Given the description of an element on the screen output the (x, y) to click on. 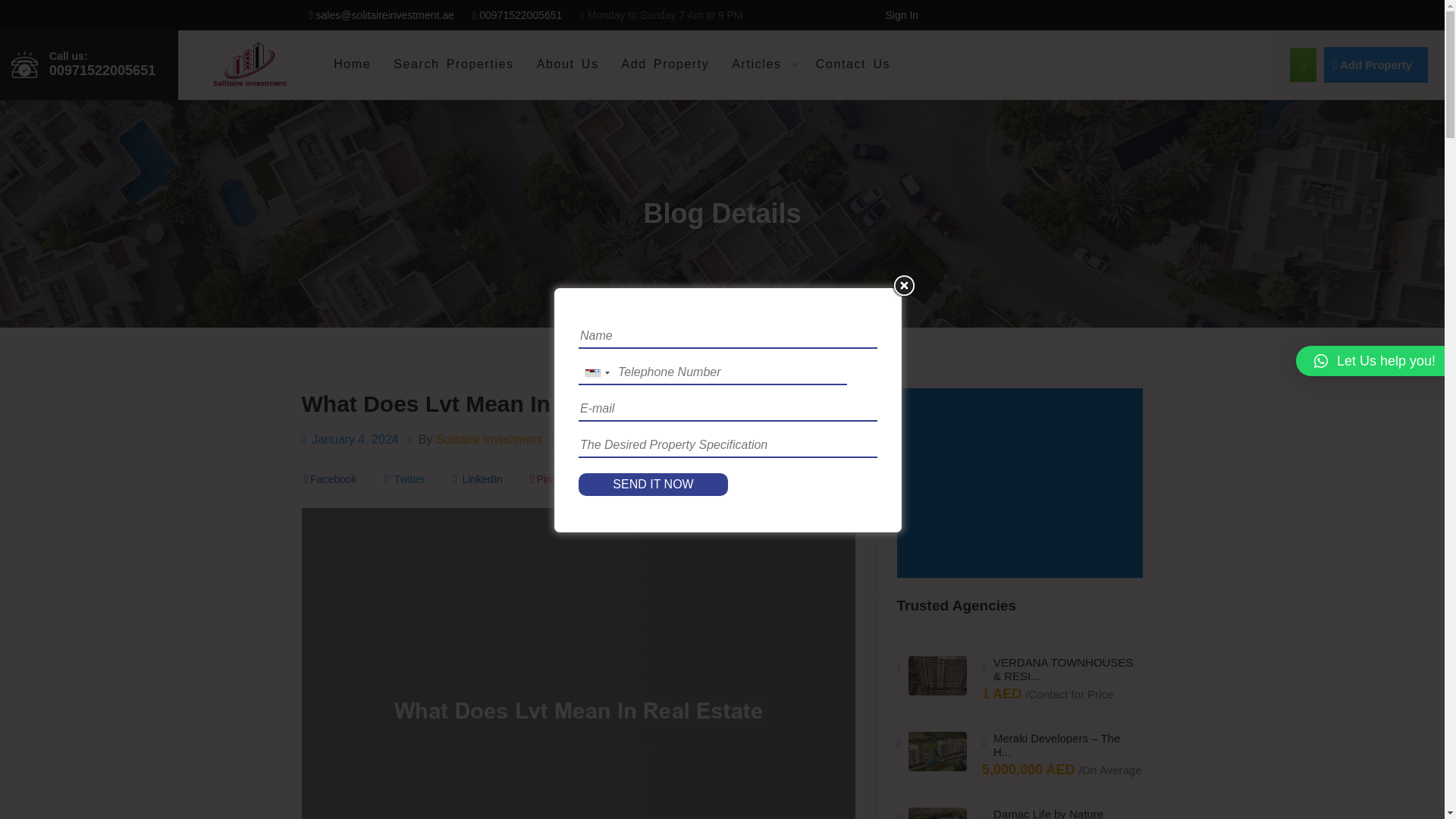
Twitter (403, 479)
Close (903, 285)
January 4, 2024 (354, 439)
Pinterest (552, 479)
00971522005651 (516, 15)
About Us (567, 64)
Advertisement (1022, 484)
Damac Life by Nature Duba... (1065, 813)
Add Property (1375, 64)
Solitaire Investment (489, 439)
Contact Us (848, 64)
Monday to Sunday 7 Am to 9 PM (661, 15)
Add Property (665, 64)
Send It Now (653, 484)
Real Estate (607, 439)
